Given the description of an element on the screen output the (x, y) to click on. 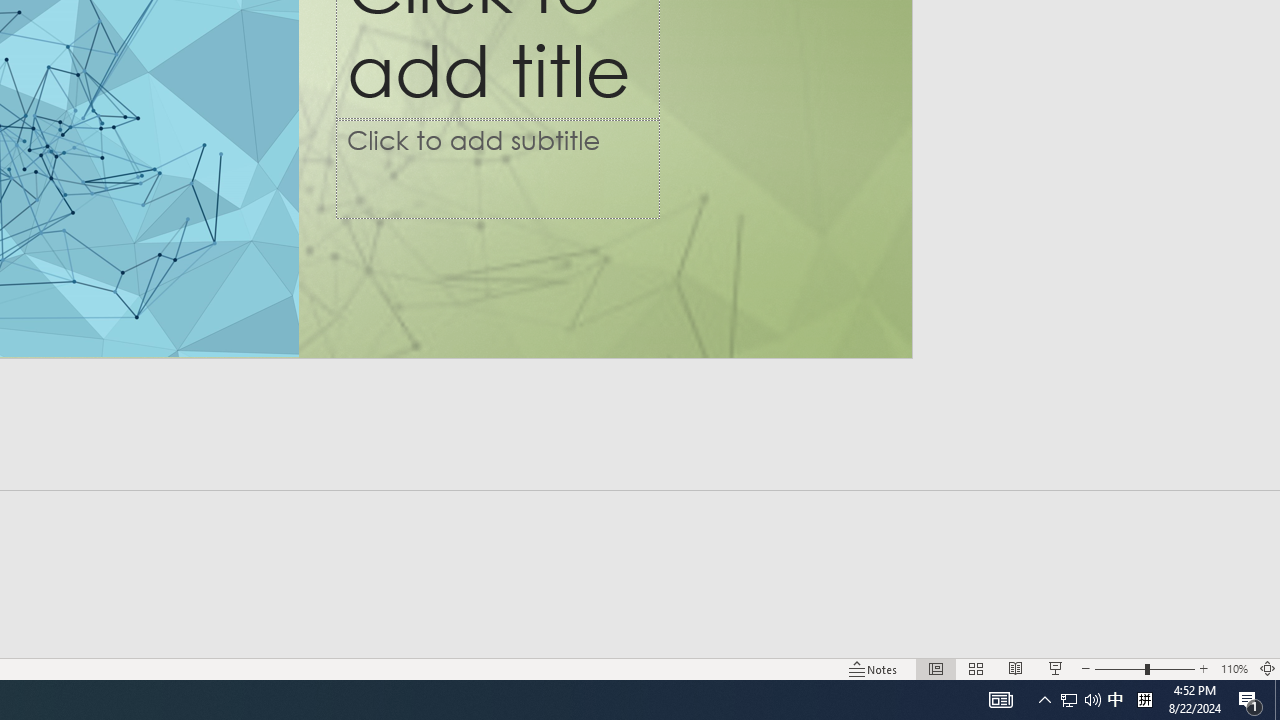
Zoom 110% (1234, 668)
